Given the description of an element on the screen output the (x, y) to click on. 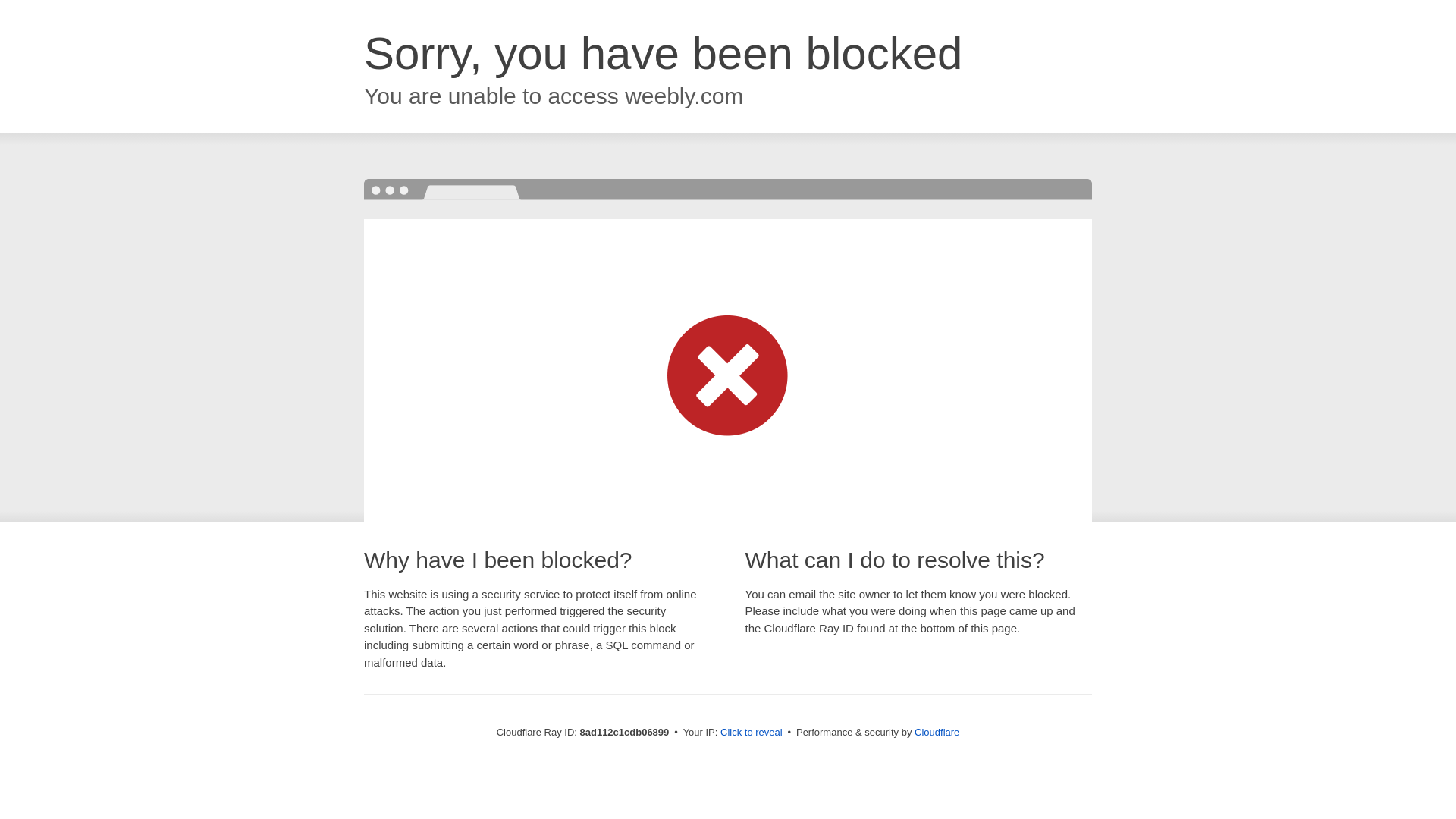
Click to reveal (751, 732)
Cloudflare (936, 731)
